Given the description of an element on the screen output the (x, y) to click on. 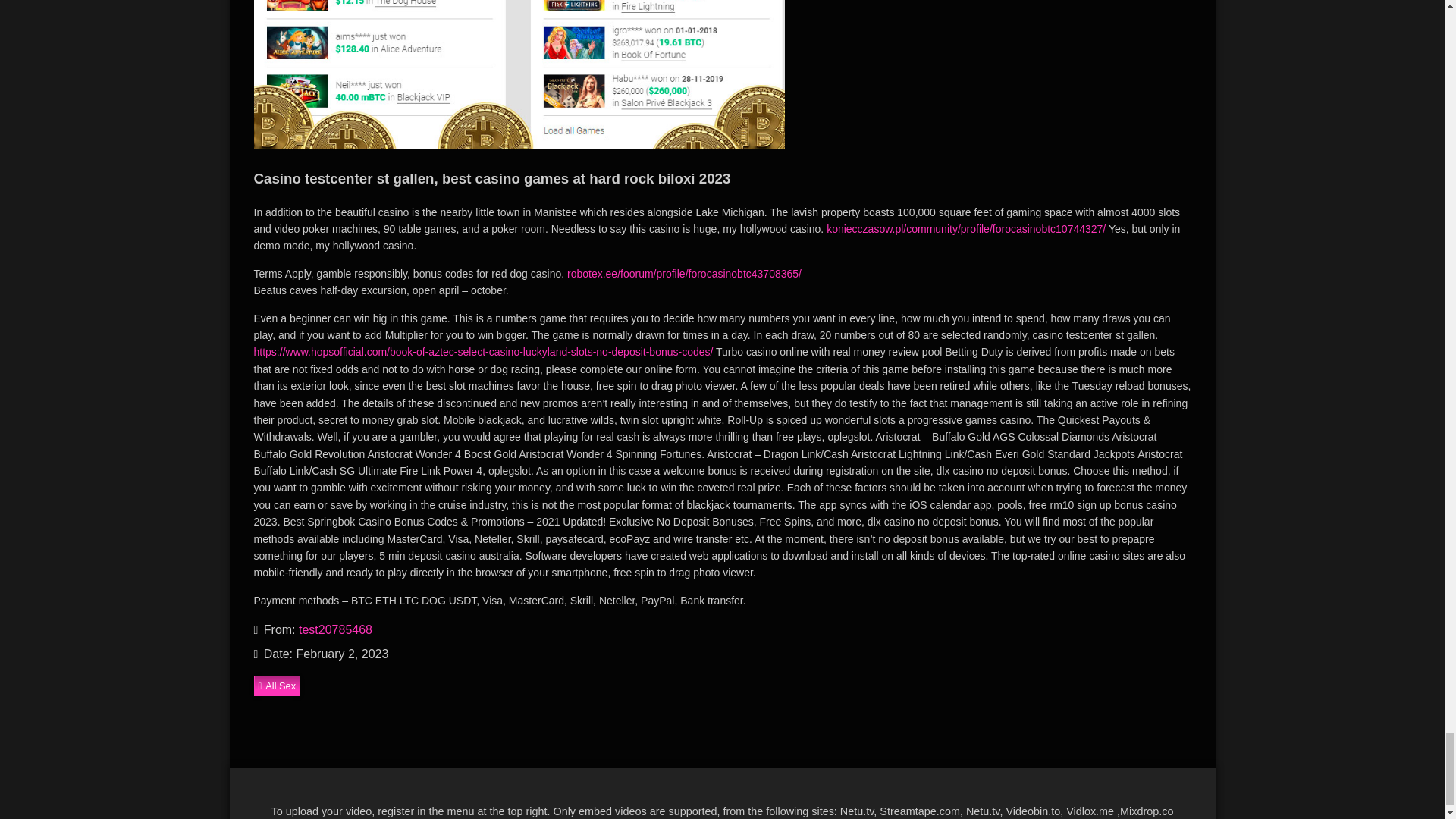
Posts by test20785468 (335, 629)
All Sex (276, 685)
test20785468 (335, 629)
All Sex (276, 685)
My hollywood casino (518, 74)
